Given the description of an element on the screen output the (x, y) to click on. 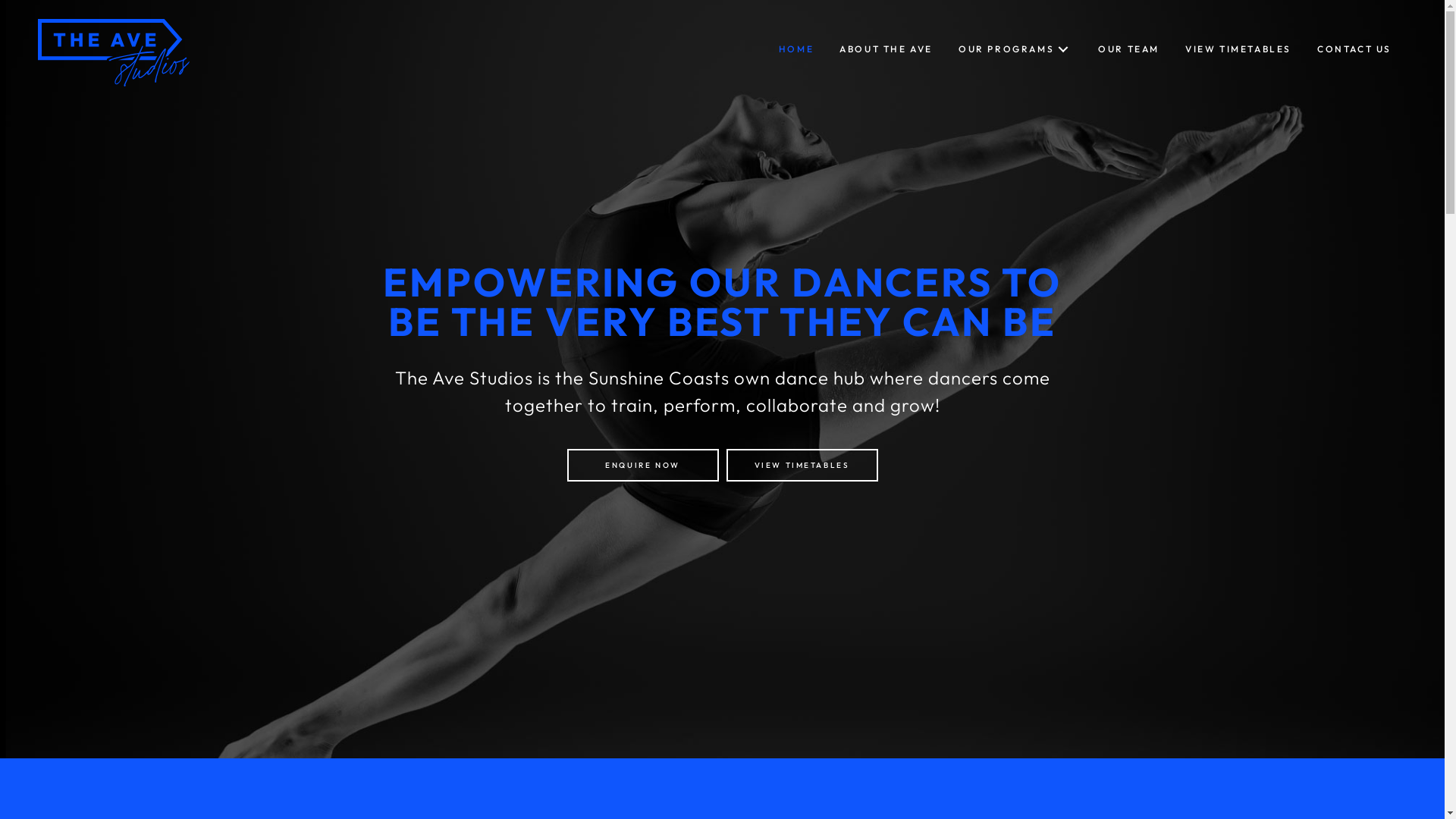
OUR TEAM Element type: text (1128, 49)
ABOUT THE AVE Element type: text (885, 49)
CONTACT US Element type: text (1354, 49)
OUR PROGRAMS Element type: text (1014, 49)
ENQUIRE NOW Element type: text (642, 464)
the-ave-studios-logo-full-color-rgb Element type: hover (113, 52)
VIEW TIMETABLES Element type: text (1238, 49)
VIEW TIMETABLES Element type: text (802, 464)
HOME Element type: text (796, 49)
